Given the description of an element on the screen output the (x, y) to click on. 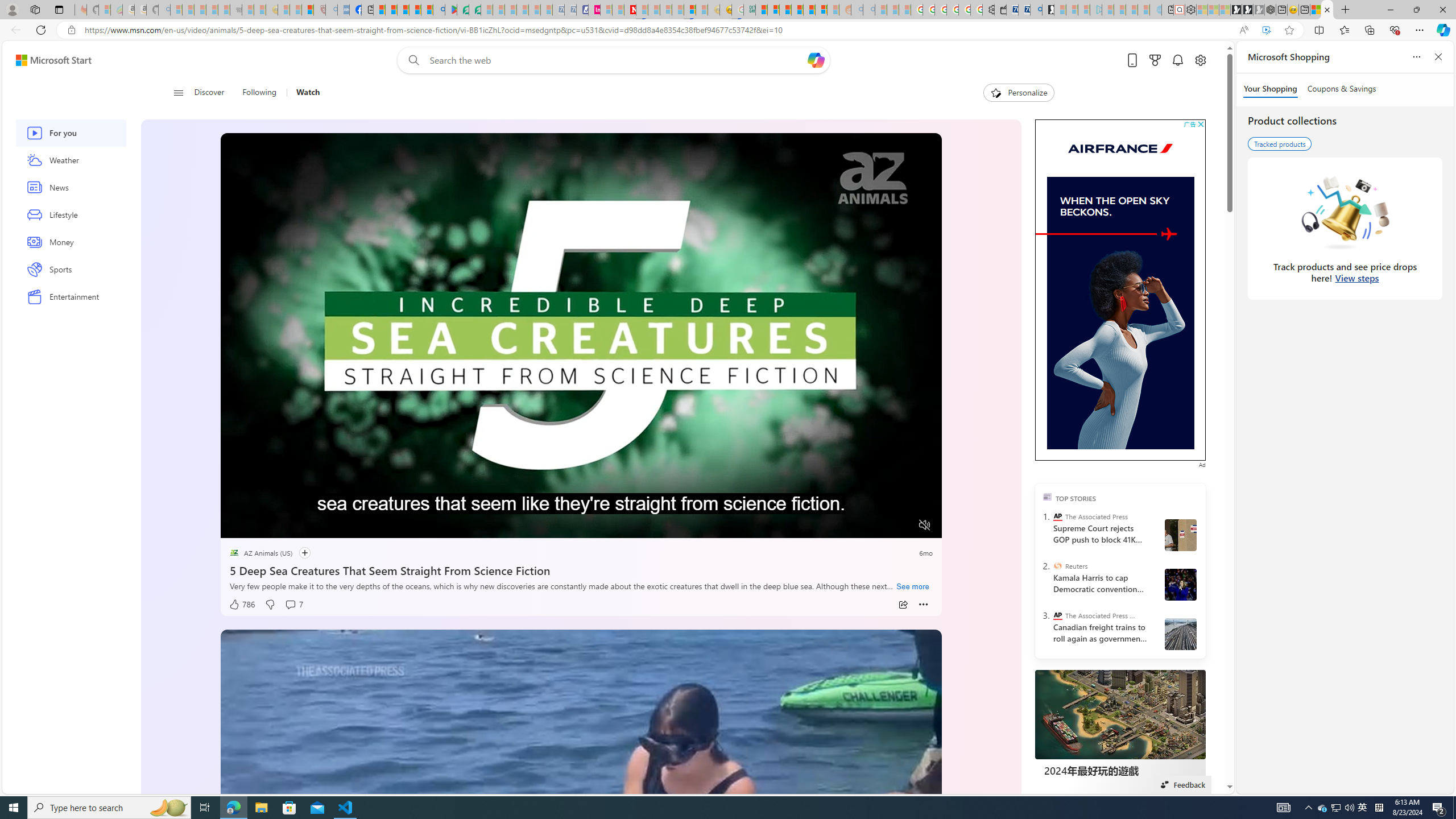
To get missing image descriptions, open the context menu. (1175, 233)
Open navigation menu (177, 92)
Enhance video (1266, 29)
Skip to content (49, 59)
Follow (299, 553)
The Associated Press (1057, 515)
Web search (411, 60)
